Given the description of an element on the screen output the (x, y) to click on. 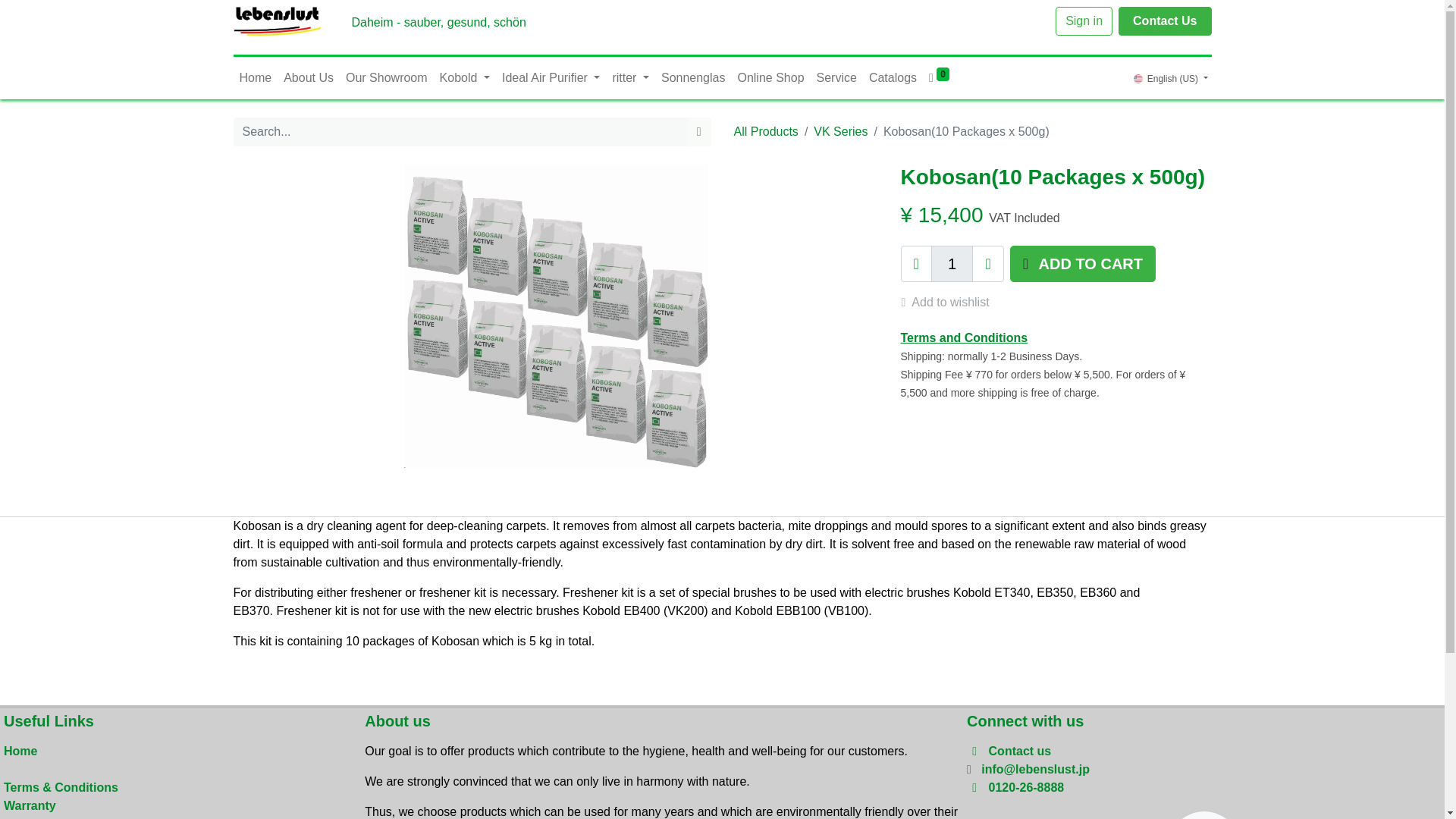
Lebenslust (276, 20)
Sign in (1083, 21)
ritter (630, 78)
Add to wishlist (952, 302)
Add to wishlist (952, 302)
Catalogs (893, 78)
Ideal Air Purifier (550, 78)
Sonnenglas (693, 78)
Kobold (464, 78)
0 (939, 78)
